Given the description of an element on the screen output the (x, y) to click on. 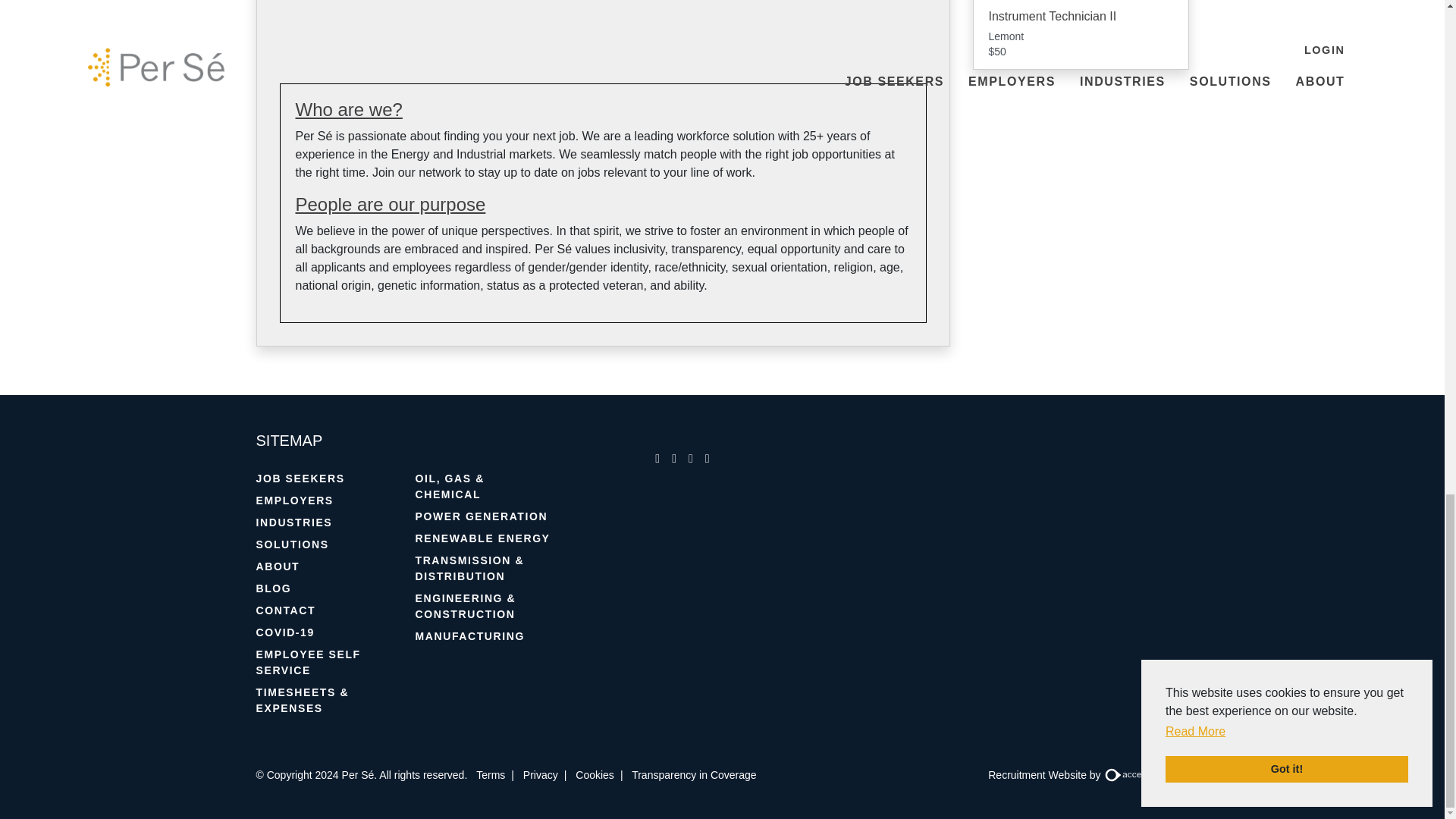
EMPLOYERS (324, 500)
JOB SEEKERS (324, 478)
INDUSTRIES (324, 522)
